Given the description of an element on the screen output the (x, y) to click on. 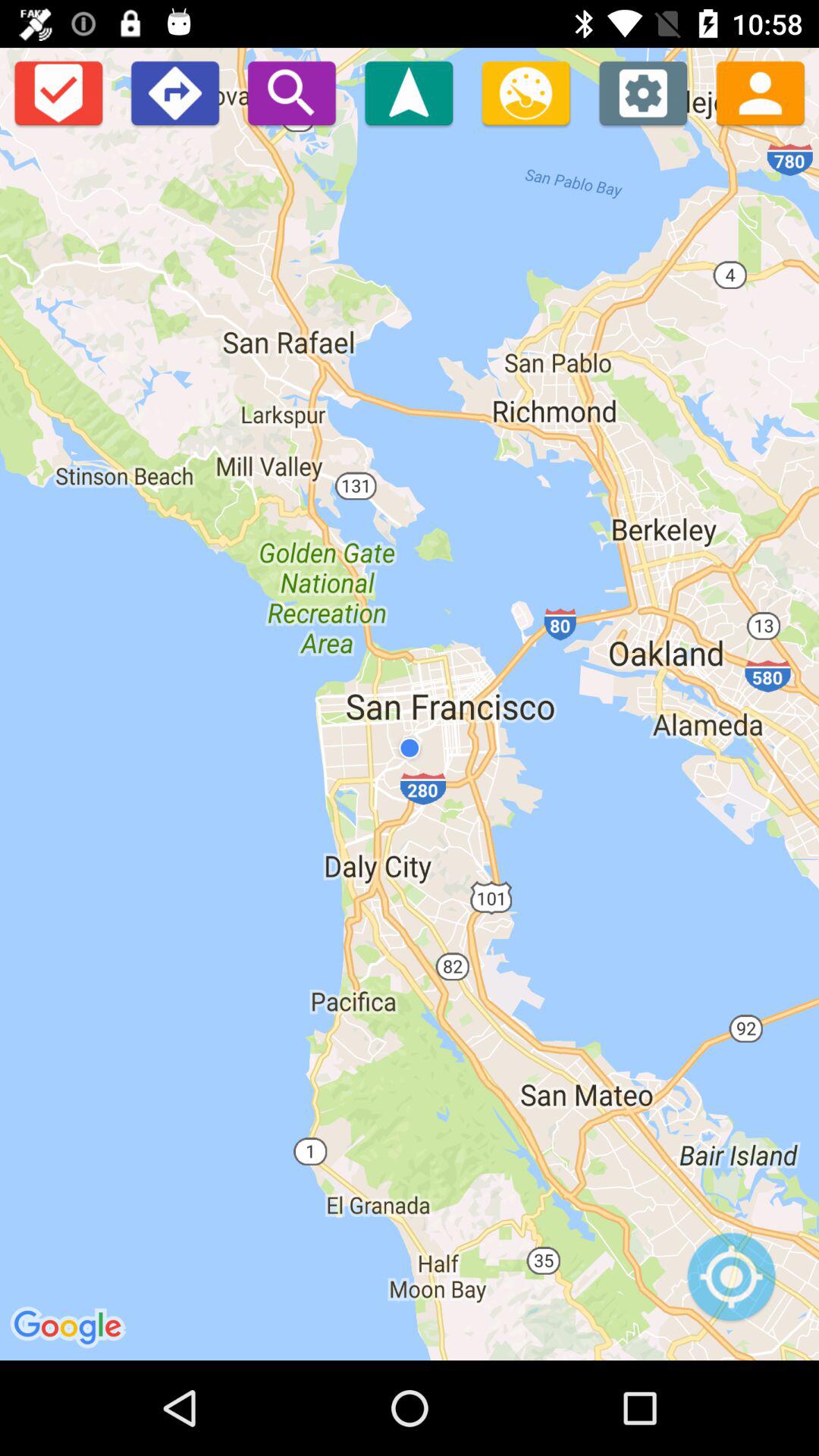
check the population (760, 92)
